Given the description of an element on the screen output the (x, y) to click on. 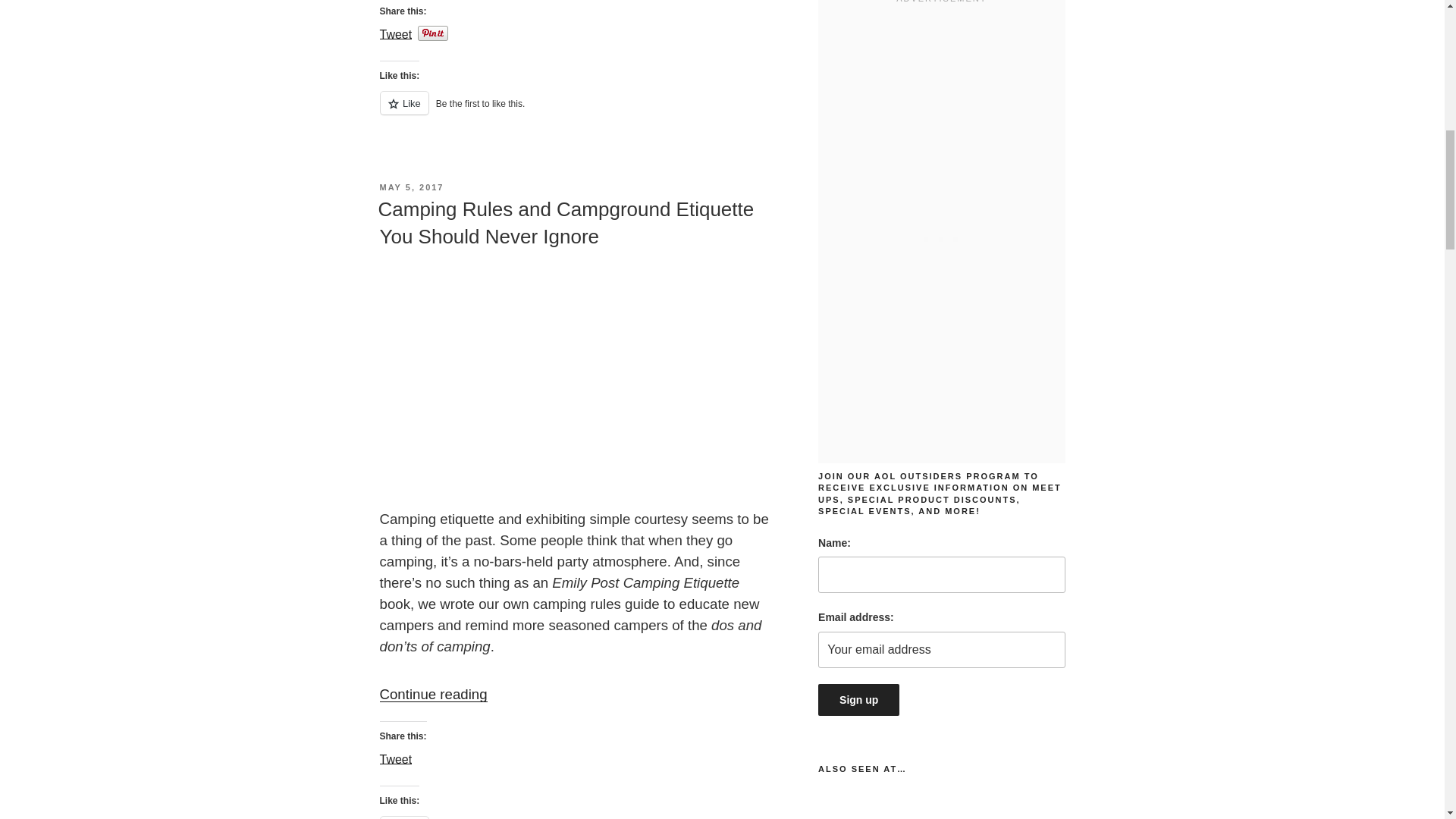
Always On Liberty Also Seen At (941, 805)
Sign up (858, 699)
Like or Reblog (577, 111)
